Given the description of an element on the screen output the (x, y) to click on. 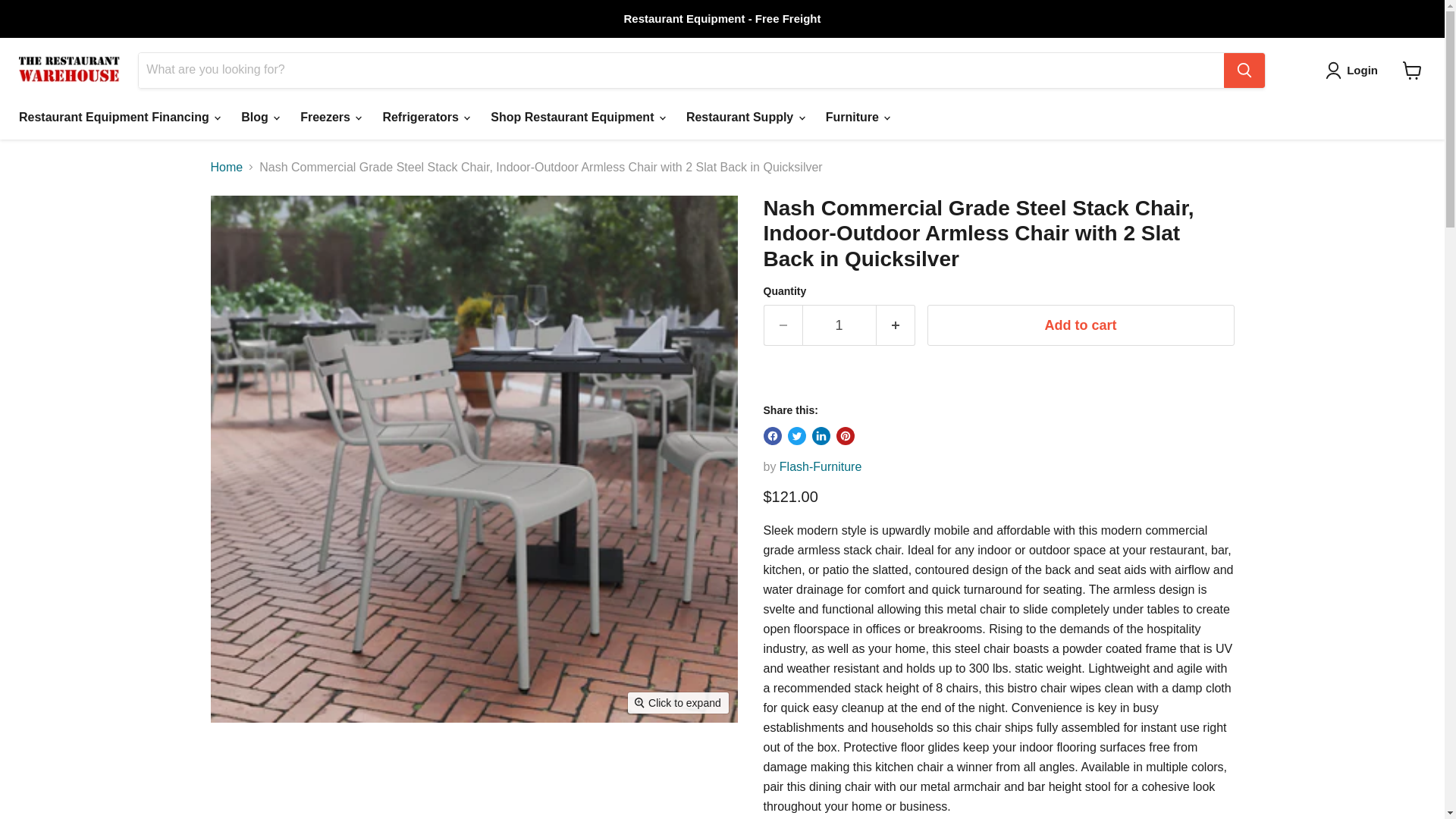
Login (1354, 70)
1 (839, 325)
View cart (1411, 69)
Flash-Furniture (819, 466)
